Given the description of an element on the screen output the (x, y) to click on. 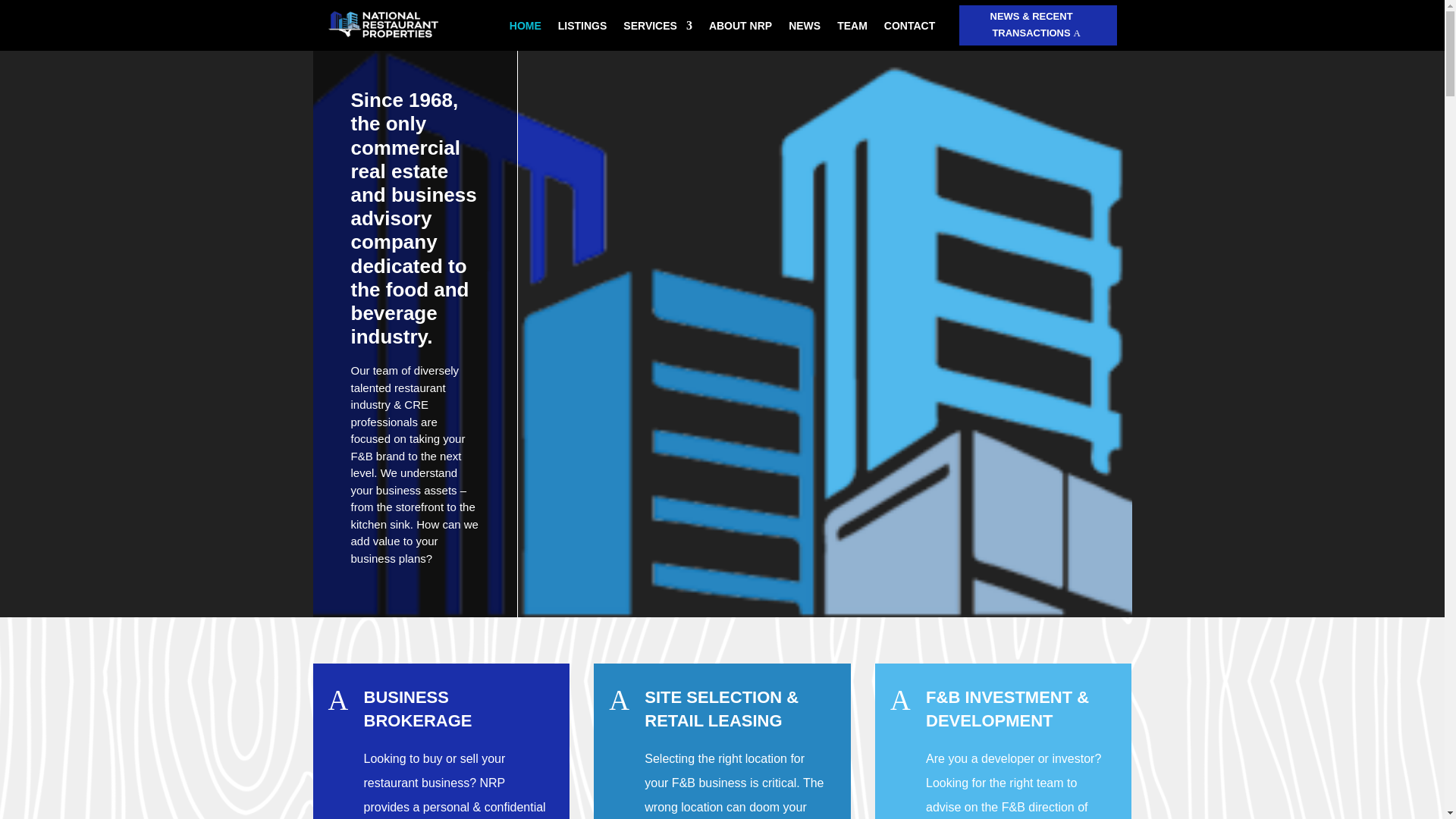
ABOUT NRP (740, 28)
SERVICES (658, 28)
TEAM (852, 28)
LISTINGS (582, 28)
HOME (525, 28)
NRP-Logo-WebWhiteColor (382, 24)
NEWS (805, 28)
CONTACT (908, 28)
